Given the description of an element on the screen output the (x, y) to click on. 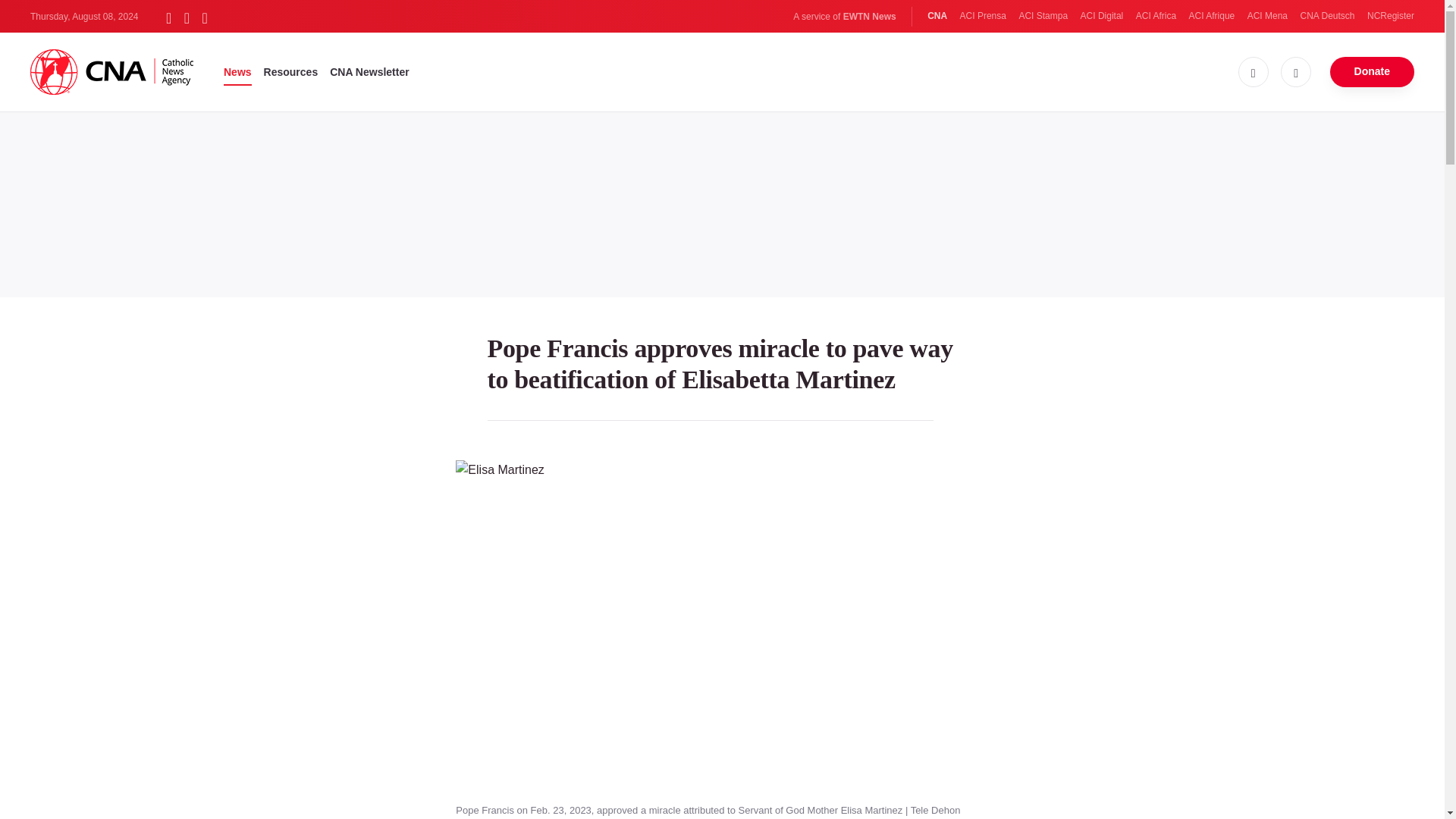
ACI Africa (1155, 16)
ACI Digital (1102, 16)
CNA (937, 16)
EWTN News (869, 16)
ACI Mena (1267, 16)
NCRegister (1390, 16)
Resources (290, 71)
EWTN News (869, 16)
ACI Afrique (1211, 16)
CNA Deutsch (1327, 16)
